Given the description of an element on the screen output the (x, y) to click on. 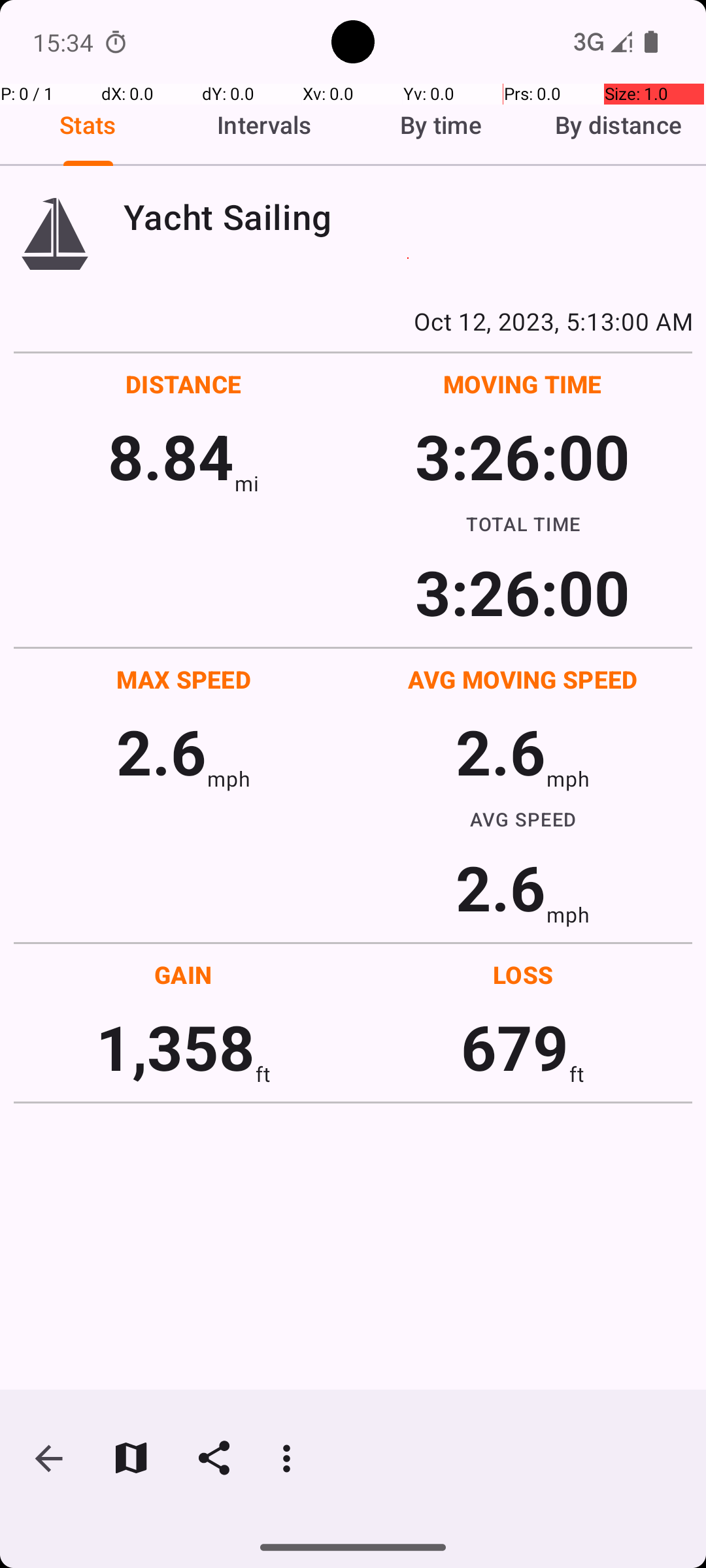
Yacht Sailing Element type: android.widget.TextView (407, 216)
Oct 12, 2023, 5:13:00 AM Element type: android.widget.TextView (352, 320)
8.84 Element type: android.widget.TextView (170, 455)
3:26:00 Element type: android.widget.TextView (522, 455)
2.6 Element type: android.widget.TextView (161, 750)
1,358 Element type: android.widget.TextView (175, 1045)
679 Element type: android.widget.TextView (514, 1045)
